Given the description of an element on the screen output the (x, y) to click on. 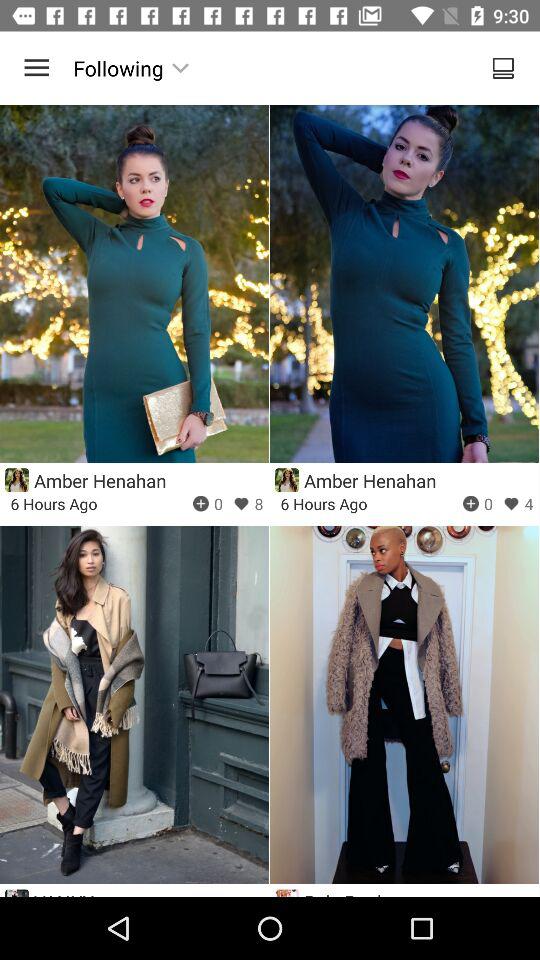
choose the icon next to following (36, 68)
